Given the description of an element on the screen output the (x, y) to click on. 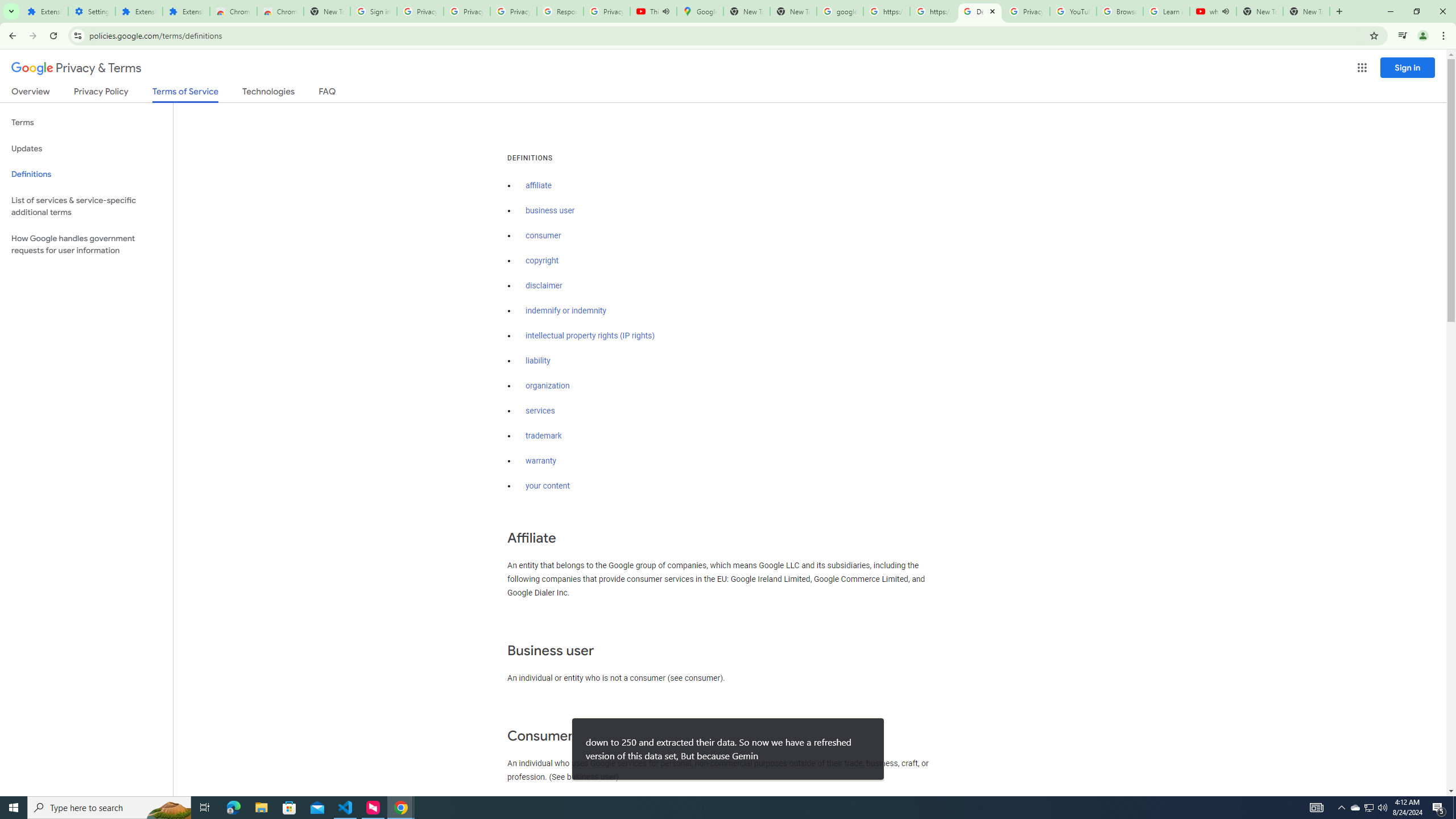
Sign in - Google Accounts (373, 11)
indemnify or indemnity (565, 311)
business user (550, 210)
your content (547, 486)
Chrome Web Store - Themes (279, 11)
Browse Chrome as a guest - Computer - Google Chrome Help (1120, 11)
How Google handles government requests for user information (86, 244)
New Tab (326, 11)
